Given the description of an element on the screen output the (x, y) to click on. 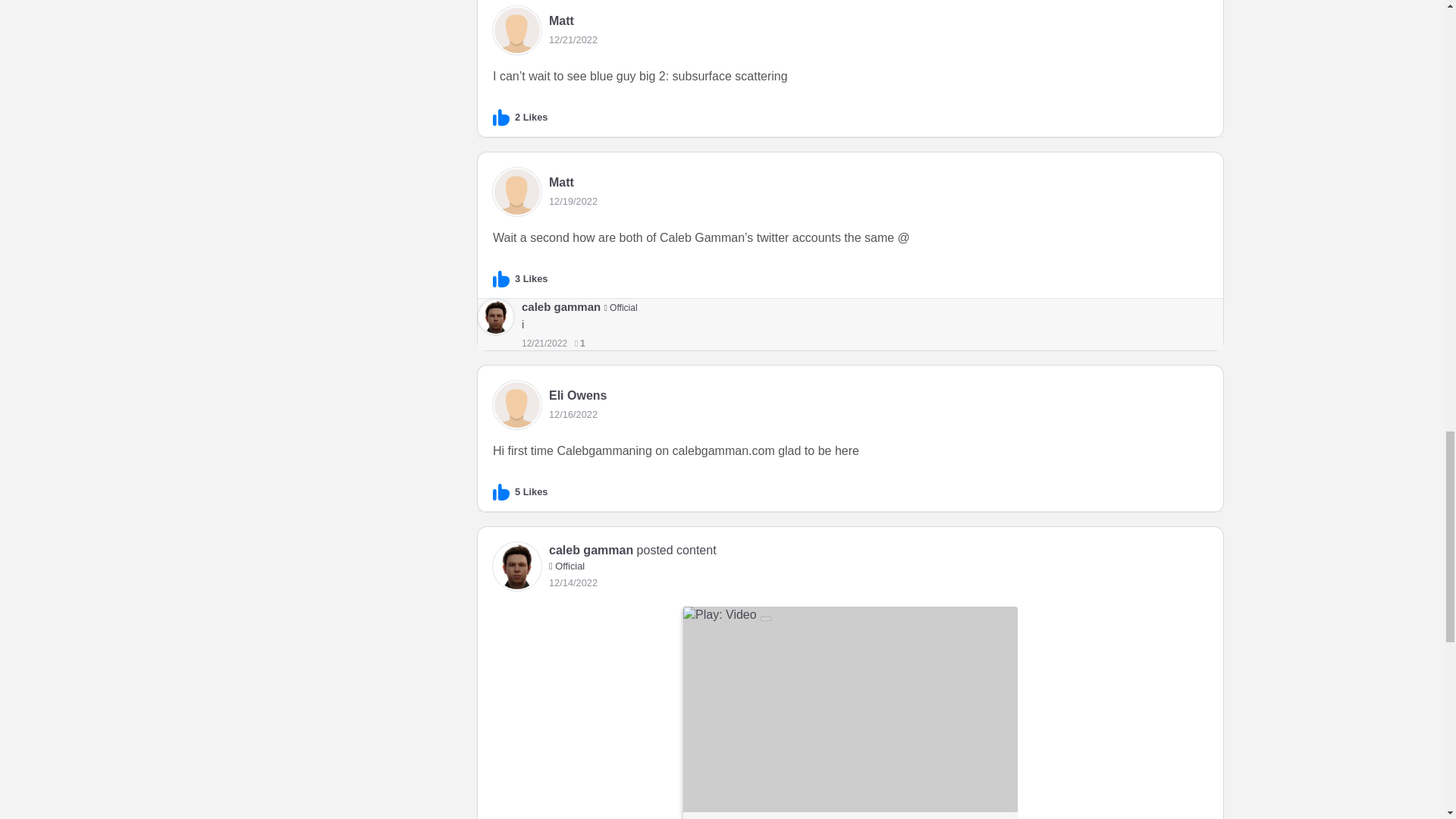
December 21, 2022 12:49 am (544, 343)
December 16, 2022 1:58 am (572, 414)
December 20, 2022 4:05 pm (572, 39)
December 19, 2022 2:11 am (572, 201)
